Given the description of an element on the screen output the (x, y) to click on. 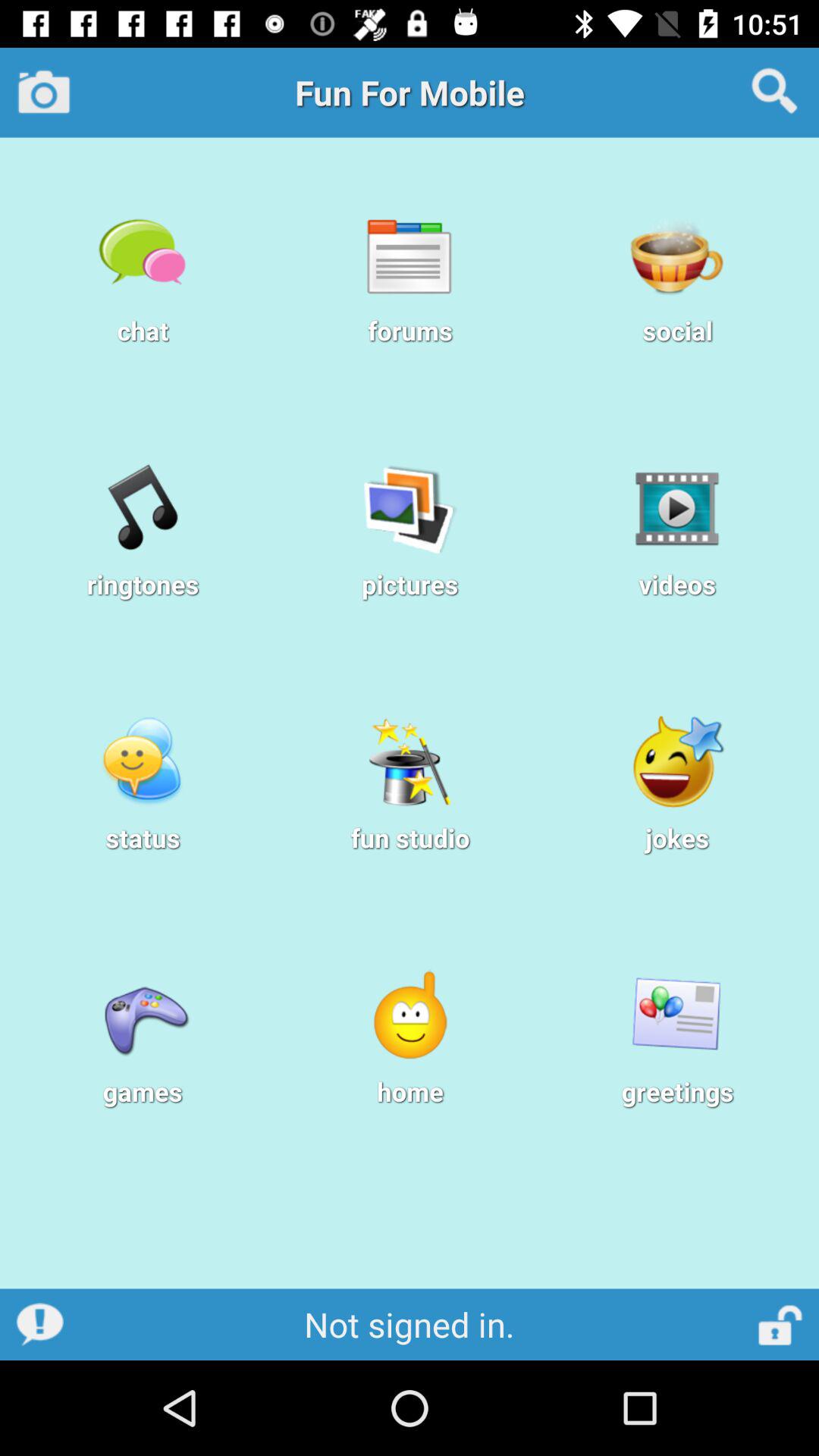
launch the app next to not signed in. item (781, 1324)
